Given the description of an element on the screen output the (x, y) to click on. 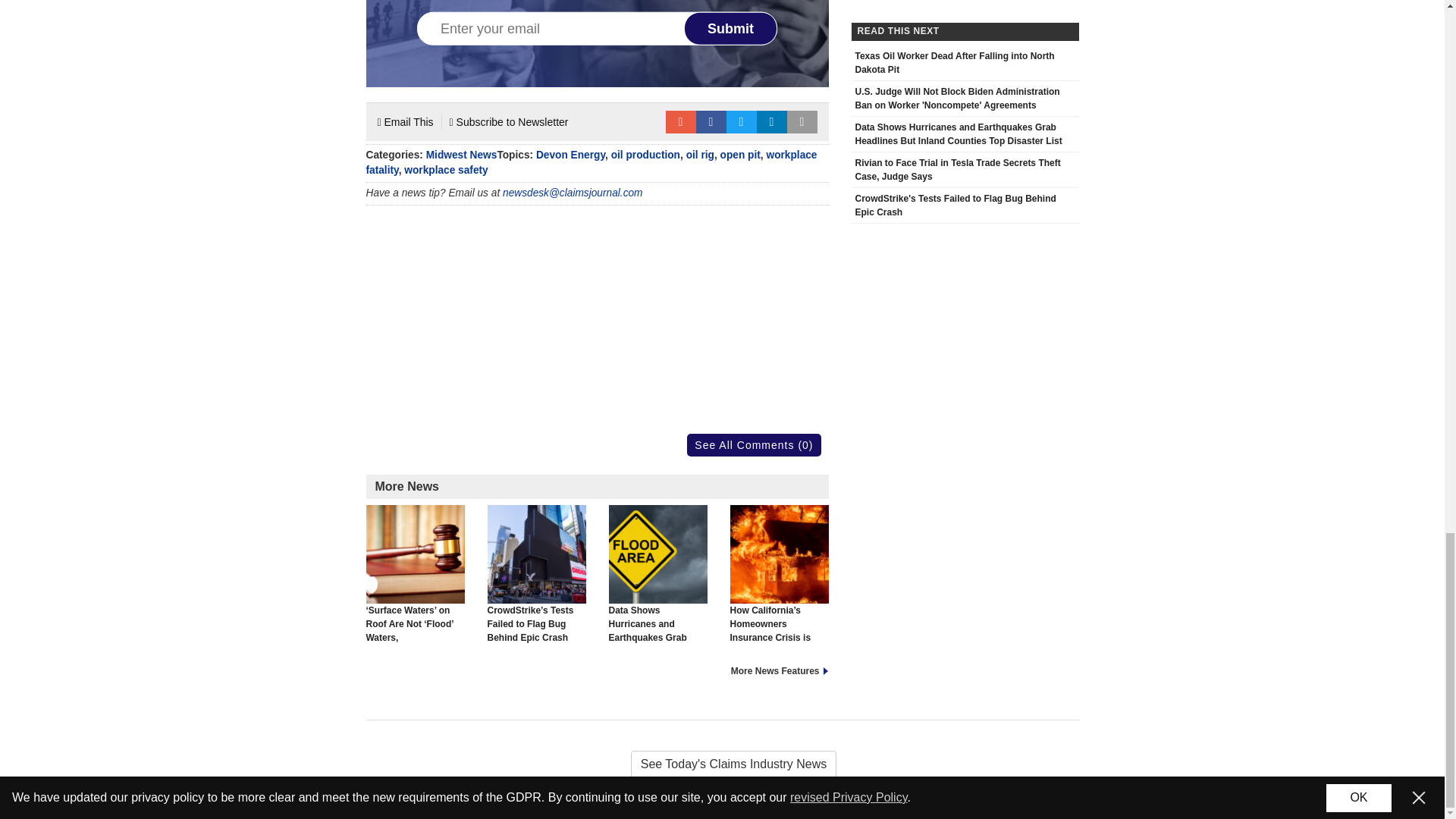
Share on Twitter. (741, 121)
Email This (405, 121)
Subscribe to Newsletter (509, 121)
See Today's Claims Industry News (721, 764)
Email to a friend (680, 121)
Print Article (801, 121)
Submit (730, 28)
Share on LinkedIn. (772, 121)
See Today's Claims Industry News (721, 764)
Post to Facebook. (710, 121)
